Given the description of an element on the screen output the (x, y) to click on. 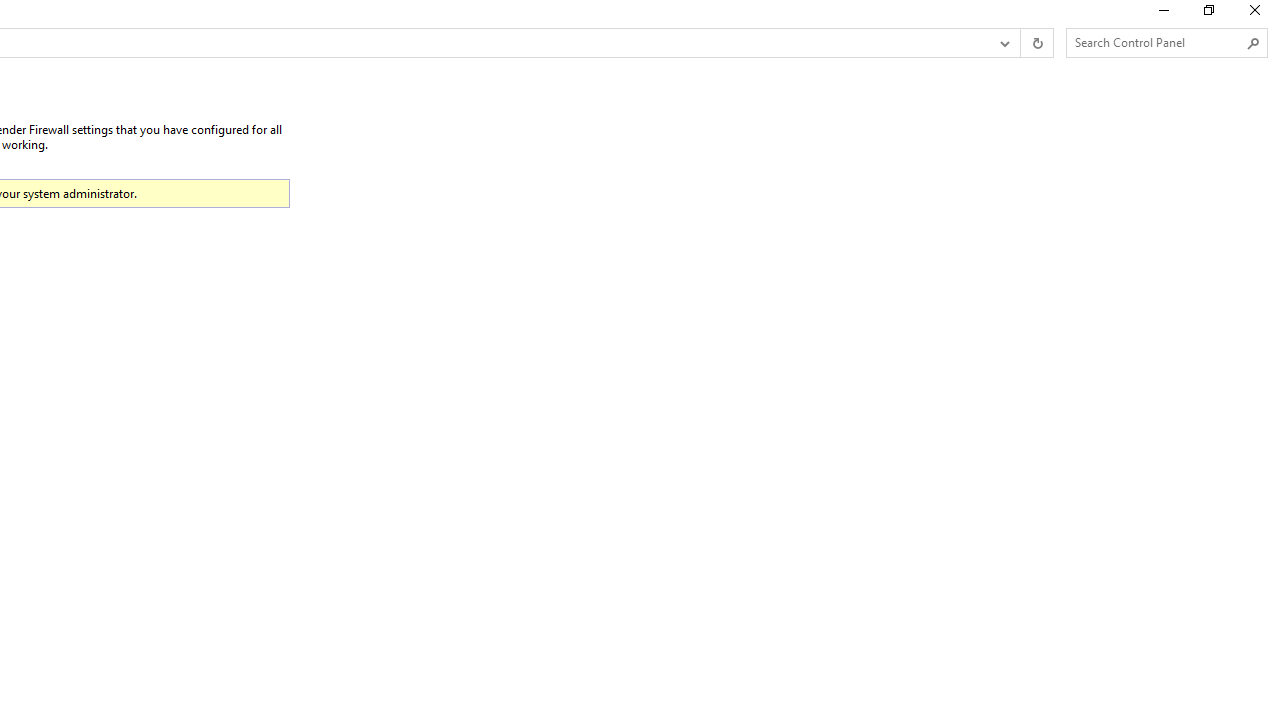
Address band toolbar (1019, 43)
Minimize (1162, 14)
Search Box (1156, 42)
Restore (1208, 14)
Search (1253, 43)
Previous Locations (1003, 43)
Refresh "Restore defaults" (F5) (1036, 43)
